Given the description of an element on the screen output the (x, y) to click on. 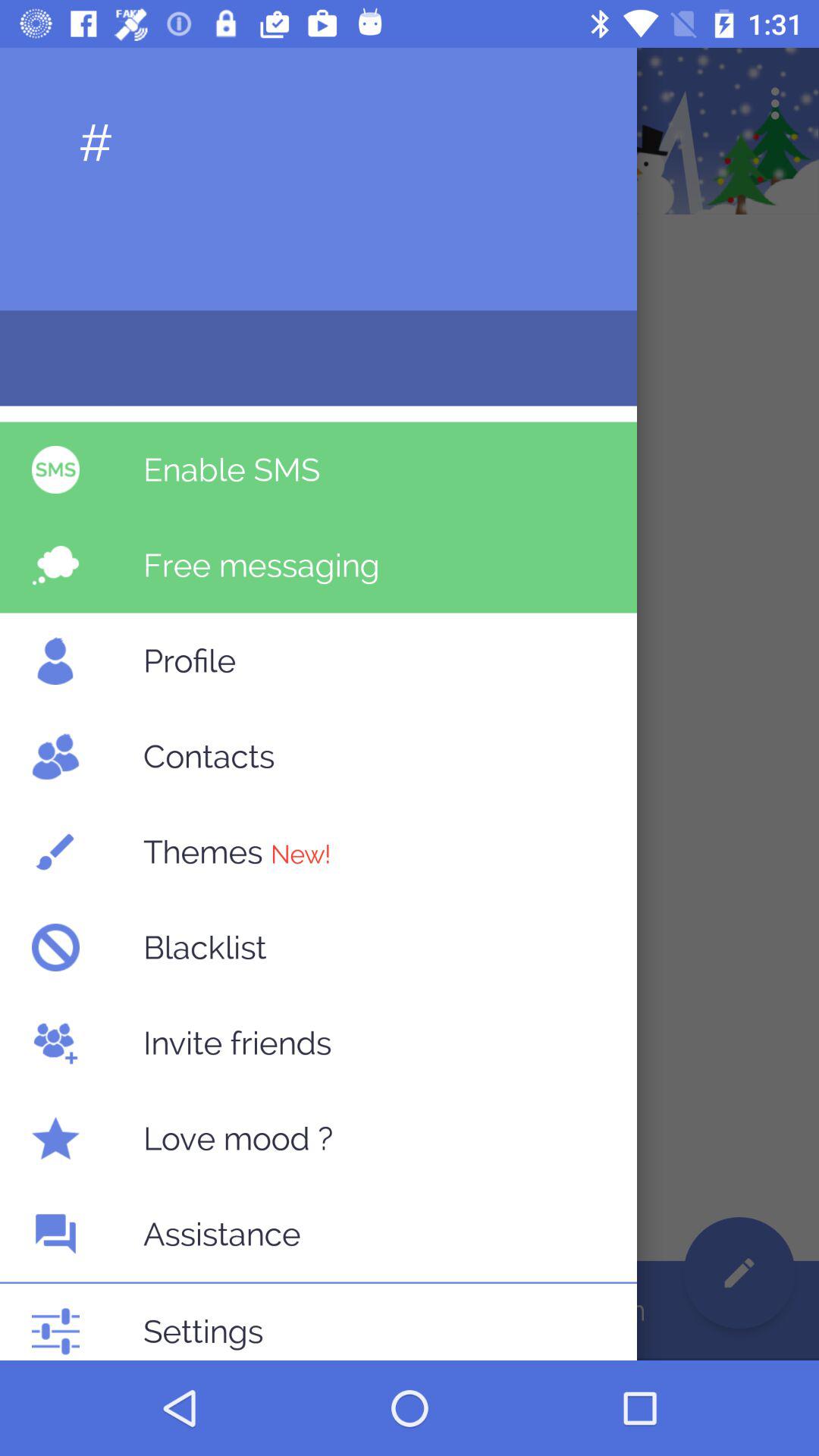
icon left to the text invite friends (55, 1043)
click on the icon left to the blacklist (55, 947)
